Given the description of an element on the screen output the (x, y) to click on. 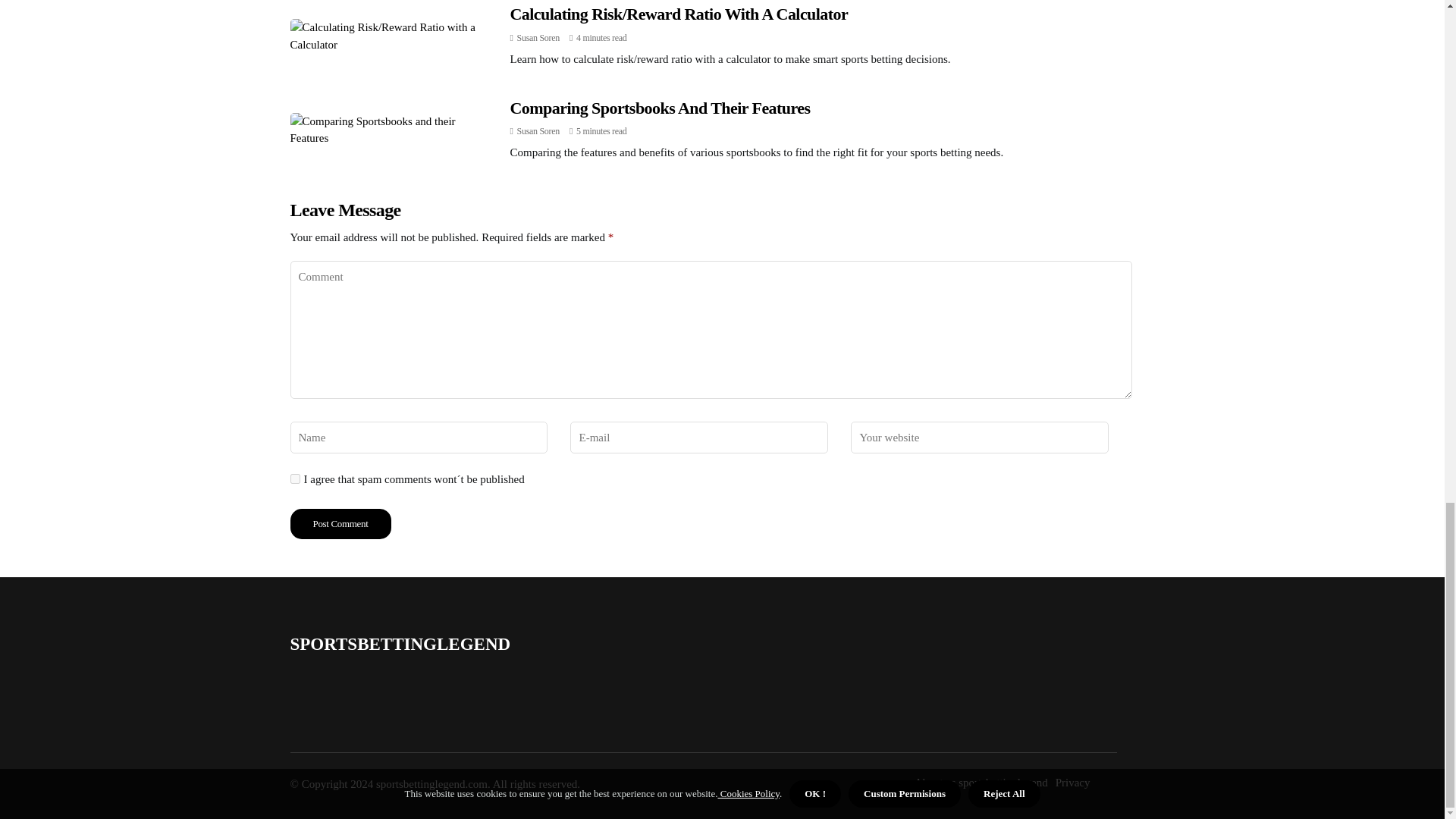
Posts by Susan Soren (537, 37)
yes (294, 479)
Posts by Susan Soren (537, 131)
Post Comment (339, 523)
